Given the description of an element on the screen output the (x, y) to click on. 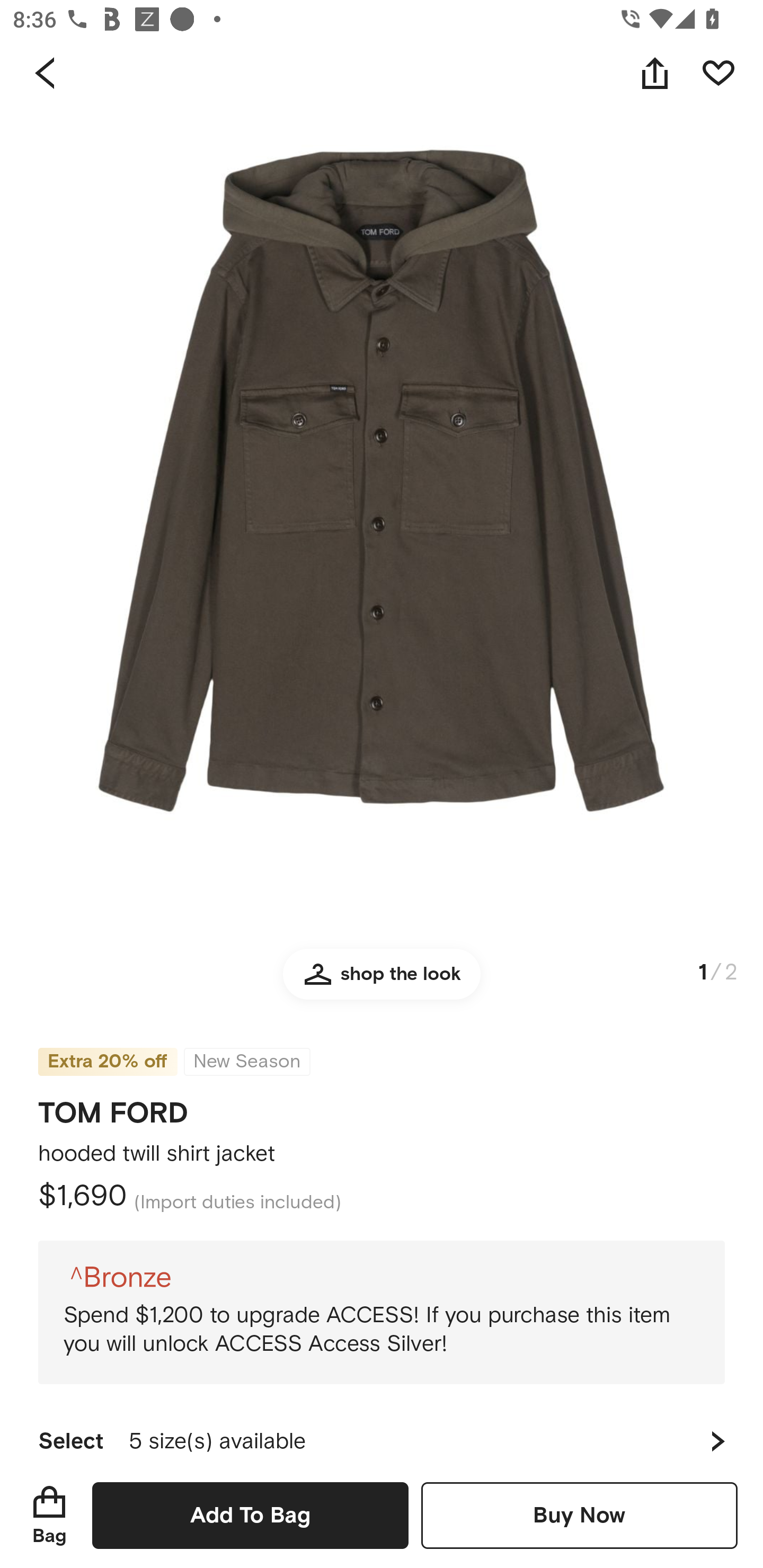
shop the look (381, 982)
Extra 20% off (107, 1049)
TOM FORD (113, 1107)
Select 5 size(s) available (381, 1432)
Bag (49, 1515)
Add To Bag (250, 1515)
Buy Now (579, 1515)
